Given the description of an element on the screen output the (x, y) to click on. 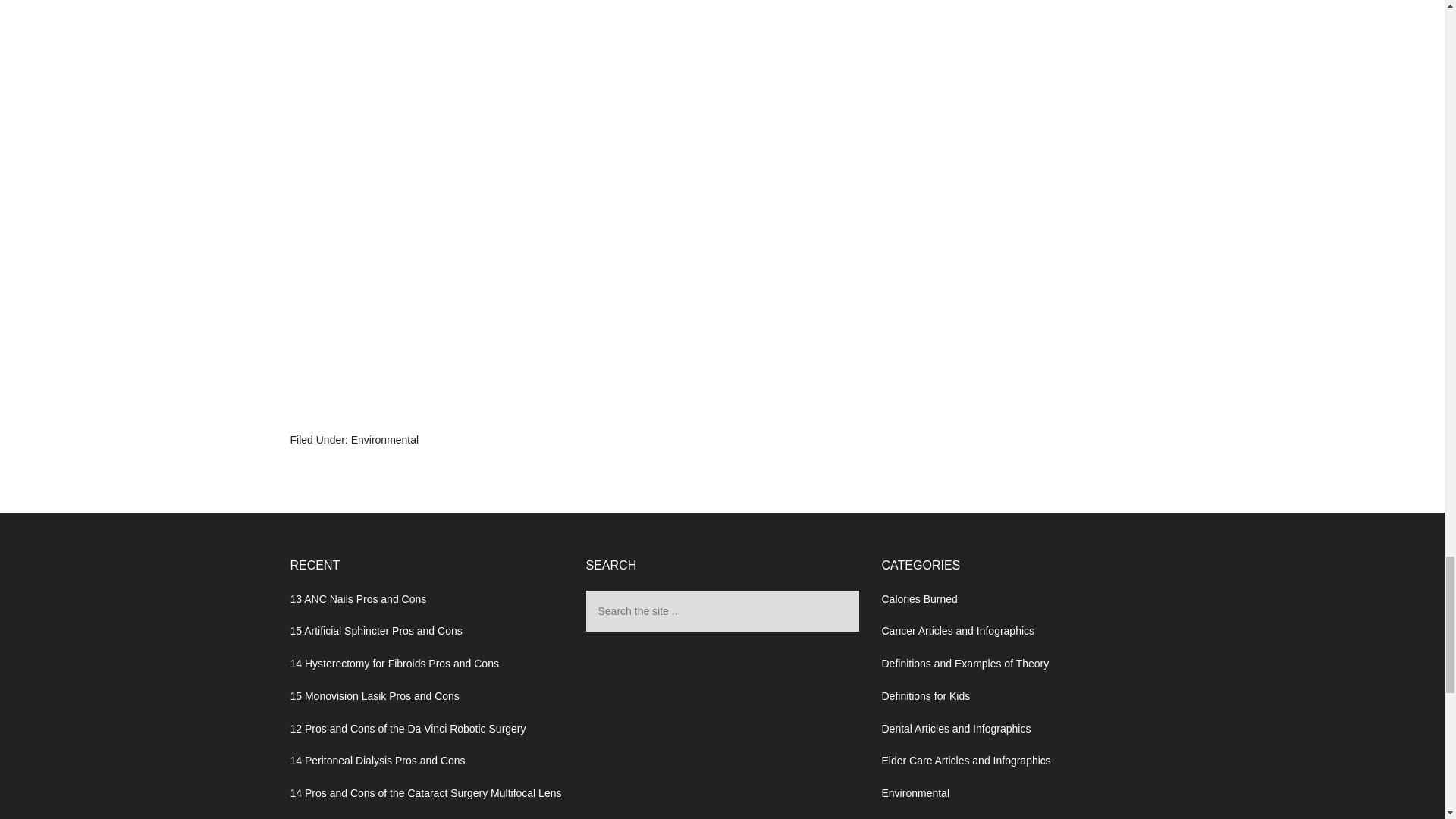
Environmental (914, 793)
Calories Burned (918, 598)
13 ANC Nails Pros and Cons (357, 598)
Definitions and Examples of Theory (964, 663)
14 Peritoneal Dialysis Pros and Cons (376, 760)
15 Monovision Lasik Pros and Cons (373, 695)
Definitions for Kids (924, 695)
12 Pros and Cons of the Da Vinci Robotic Surgery (407, 728)
14 Hysterectomy for Fibroids Pros and Cons (393, 663)
15 Artificial Sphincter Pros and Cons (375, 630)
14 Pros and Cons of the Cataract Surgery Multifocal Lens (424, 793)
Elder Care Articles and Infographics (964, 760)
Dental Articles and Infographics (955, 728)
